Given the description of an element on the screen output the (x, y) to click on. 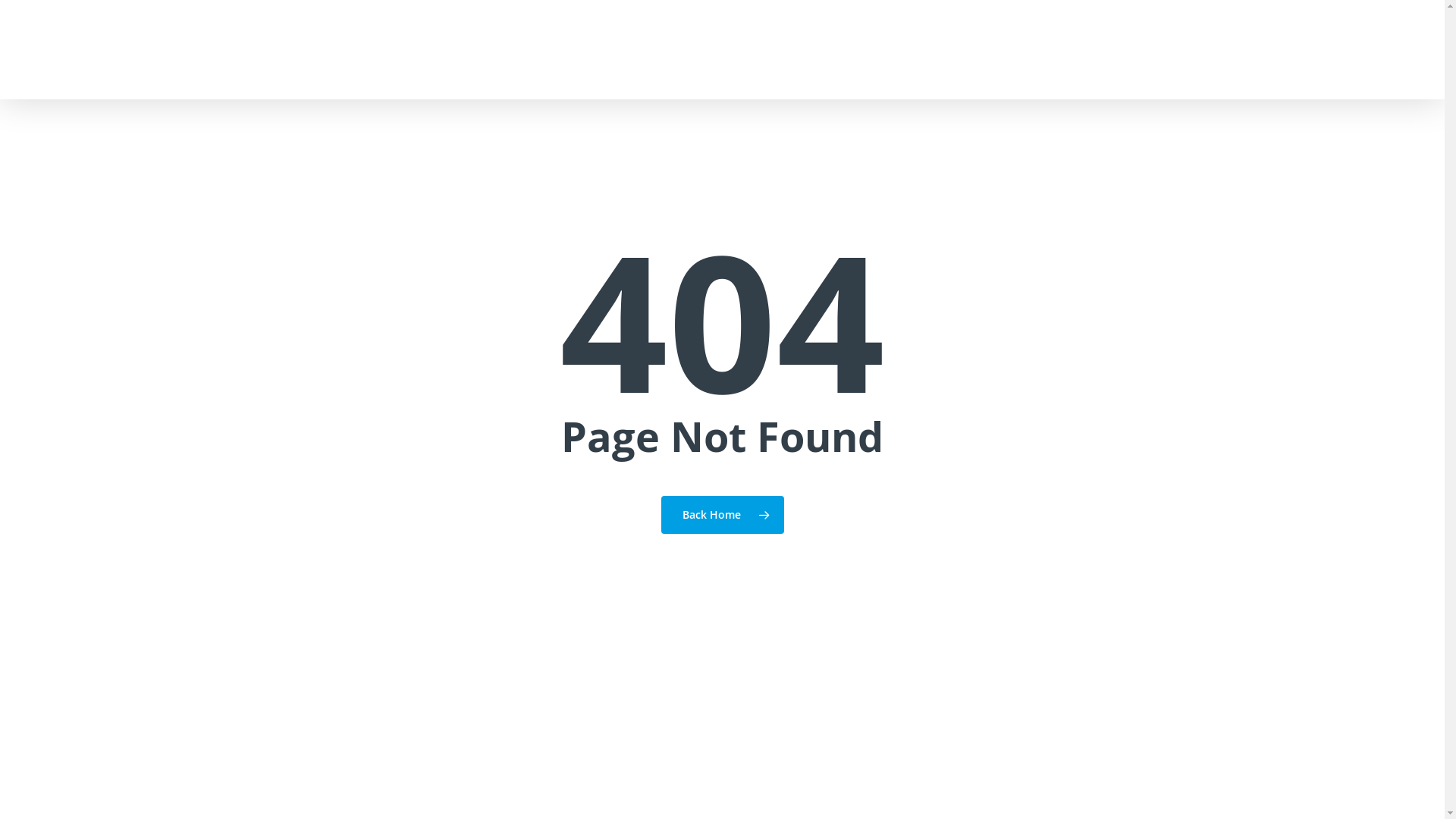
Back Home Element type: text (722, 514)
